Given the description of an element on the screen output the (x, y) to click on. 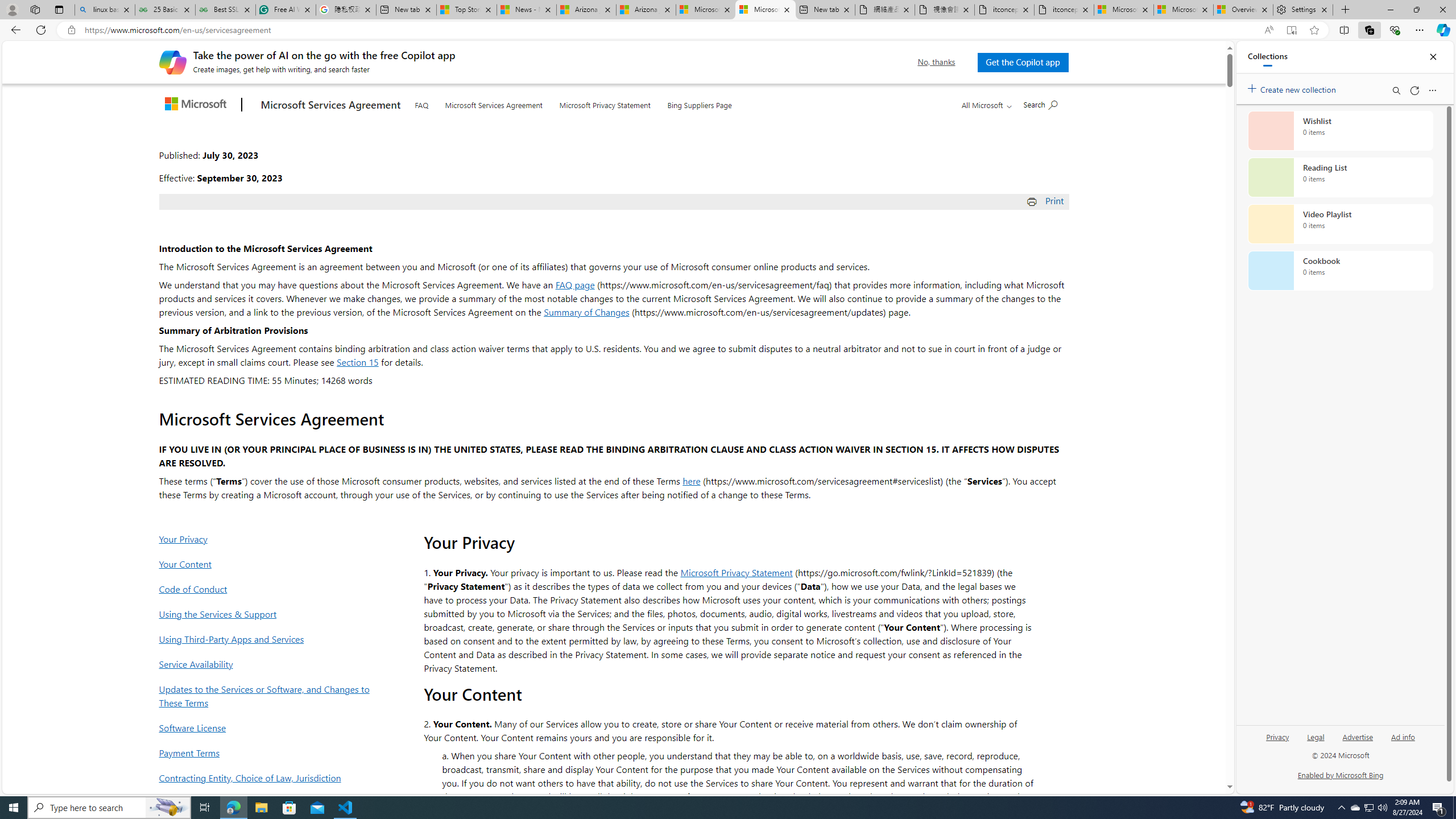
Service Availability (267, 663)
itconcepthk.com/projector_solutions.mp4 (1064, 9)
Microsoft Privacy Statement (736, 571)
Software License (267, 727)
Your Privacy (267, 538)
Wishlist collection, 0 items (1339, 130)
Overview (1243, 9)
linux basic - Search (104, 9)
